Given the description of an element on the screen output the (x, y) to click on. 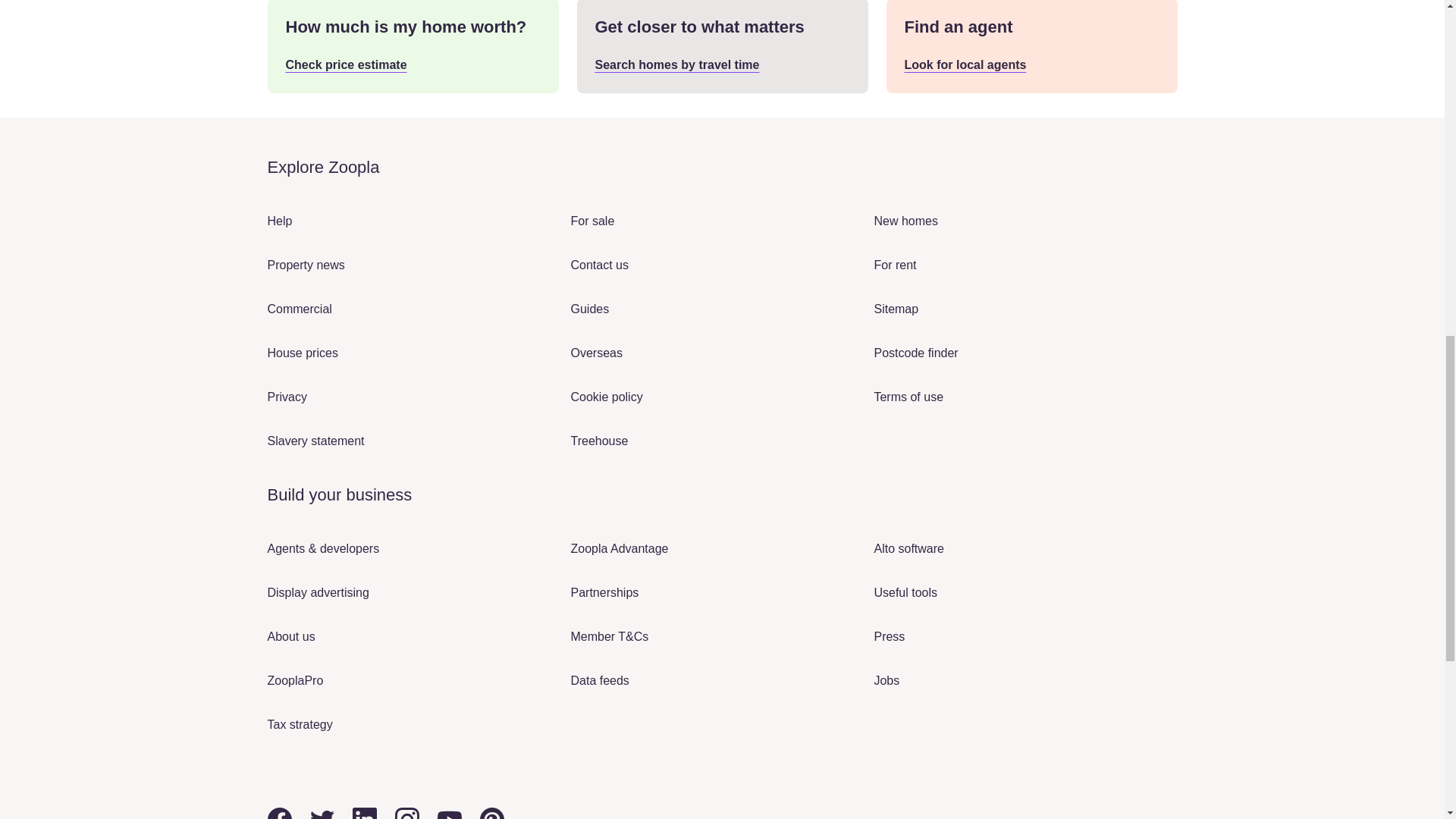
Guides (589, 308)
This link opens in a new window (598, 264)
Postcode finder (915, 352)
Privacy (285, 396)
House prices (301, 352)
Sitemap (895, 308)
Property news (304, 264)
Overseas (595, 352)
Treehouse (598, 440)
Cookie policy (606, 396)
For sale (592, 220)
New homes (905, 220)
Terms of use (908, 396)
Commercial (298, 308)
Slavery statement (315, 440)
